Given the description of an element on the screen output the (x, y) to click on. 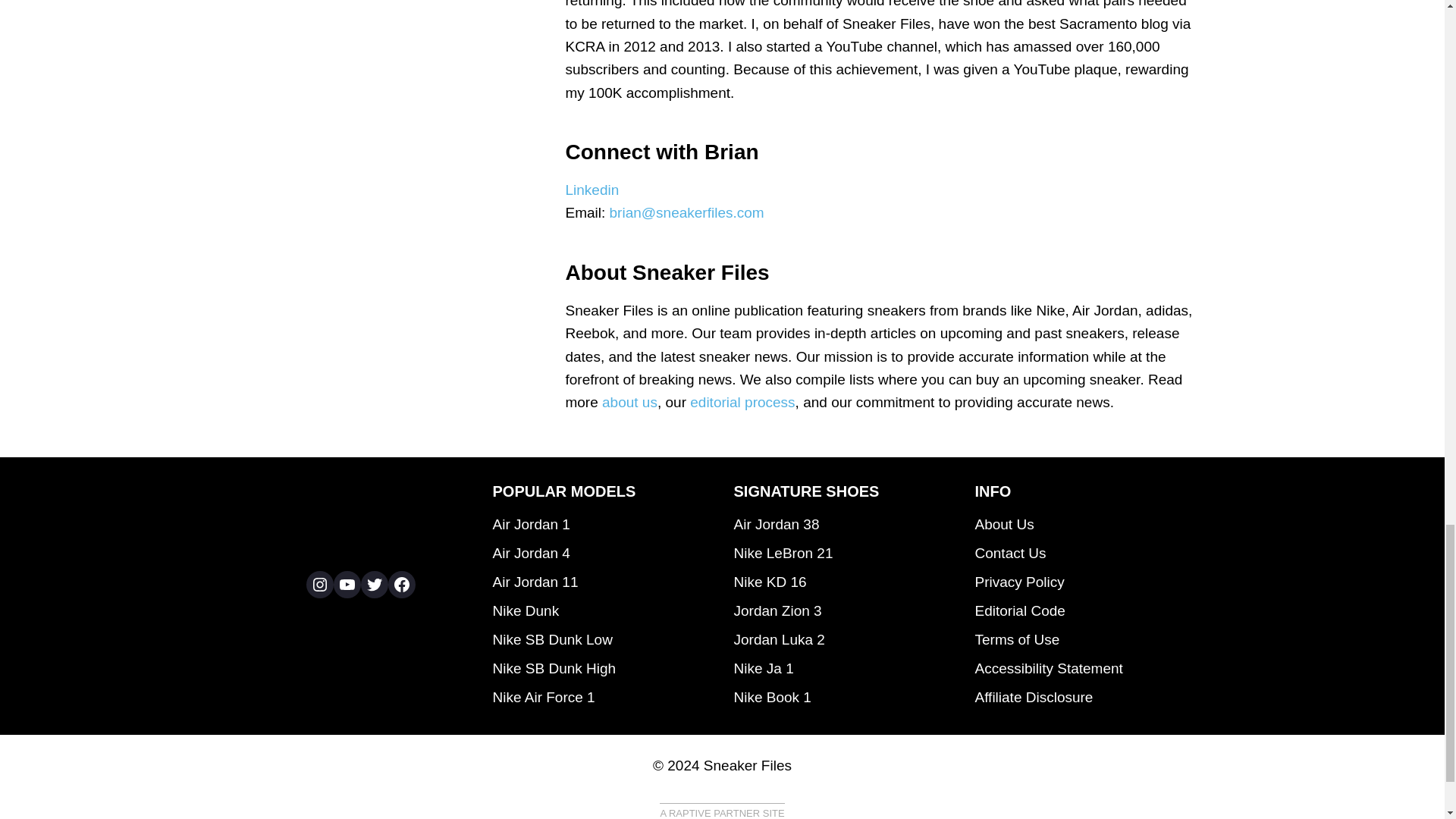
YouTube (347, 584)
Linkedin (591, 189)
about us (630, 401)
Instagram (319, 584)
editorial process (742, 401)
